Given the description of an element on the screen output the (x, y) to click on. 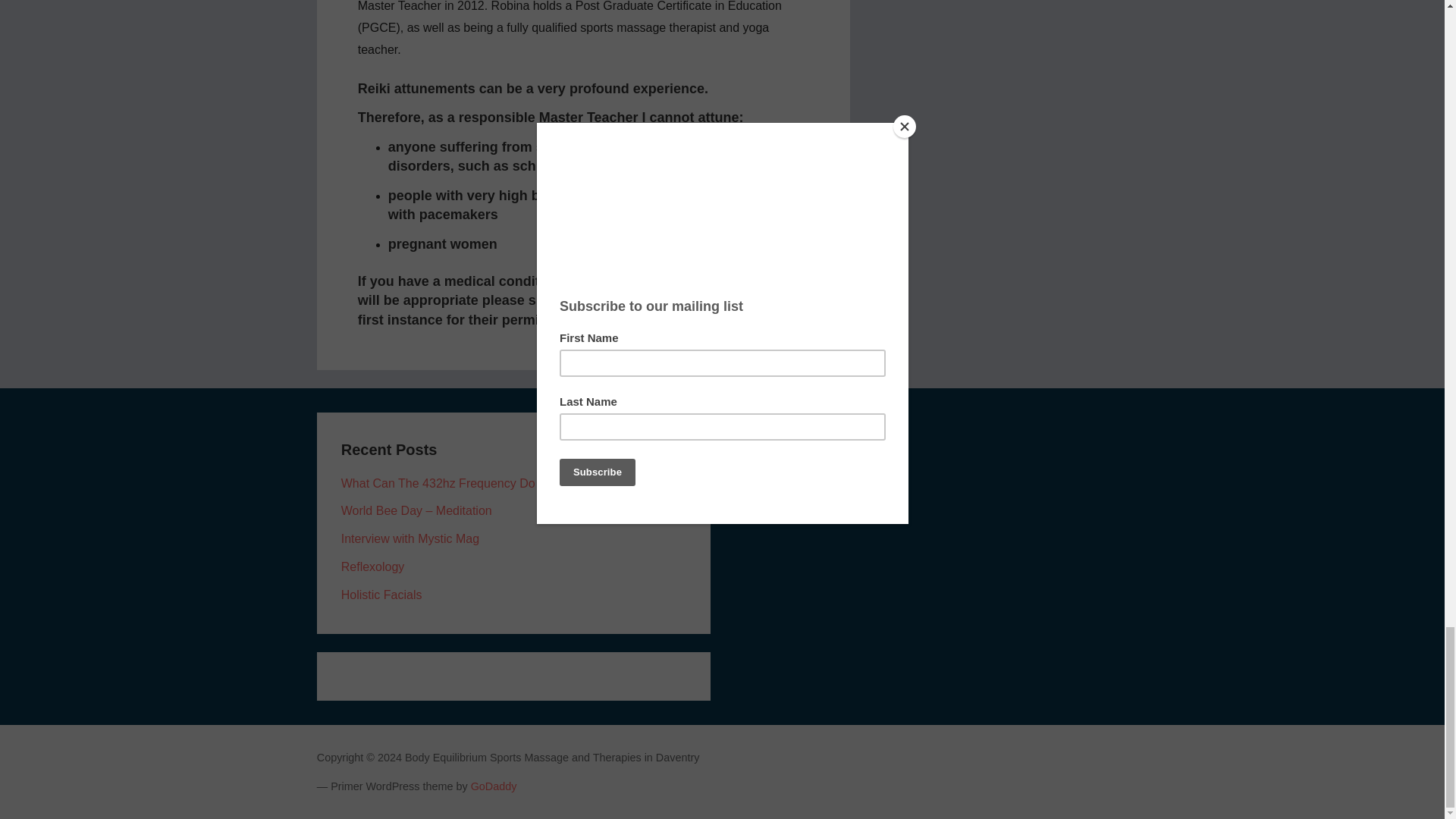
Interview with Mystic Mag (409, 538)
Holistic Facials (381, 594)
What Can The 432hz Frequency Do For You? (463, 482)
Reflexology (372, 566)
GoDaddy (493, 786)
